Given the description of an element on the screen output the (x, y) to click on. 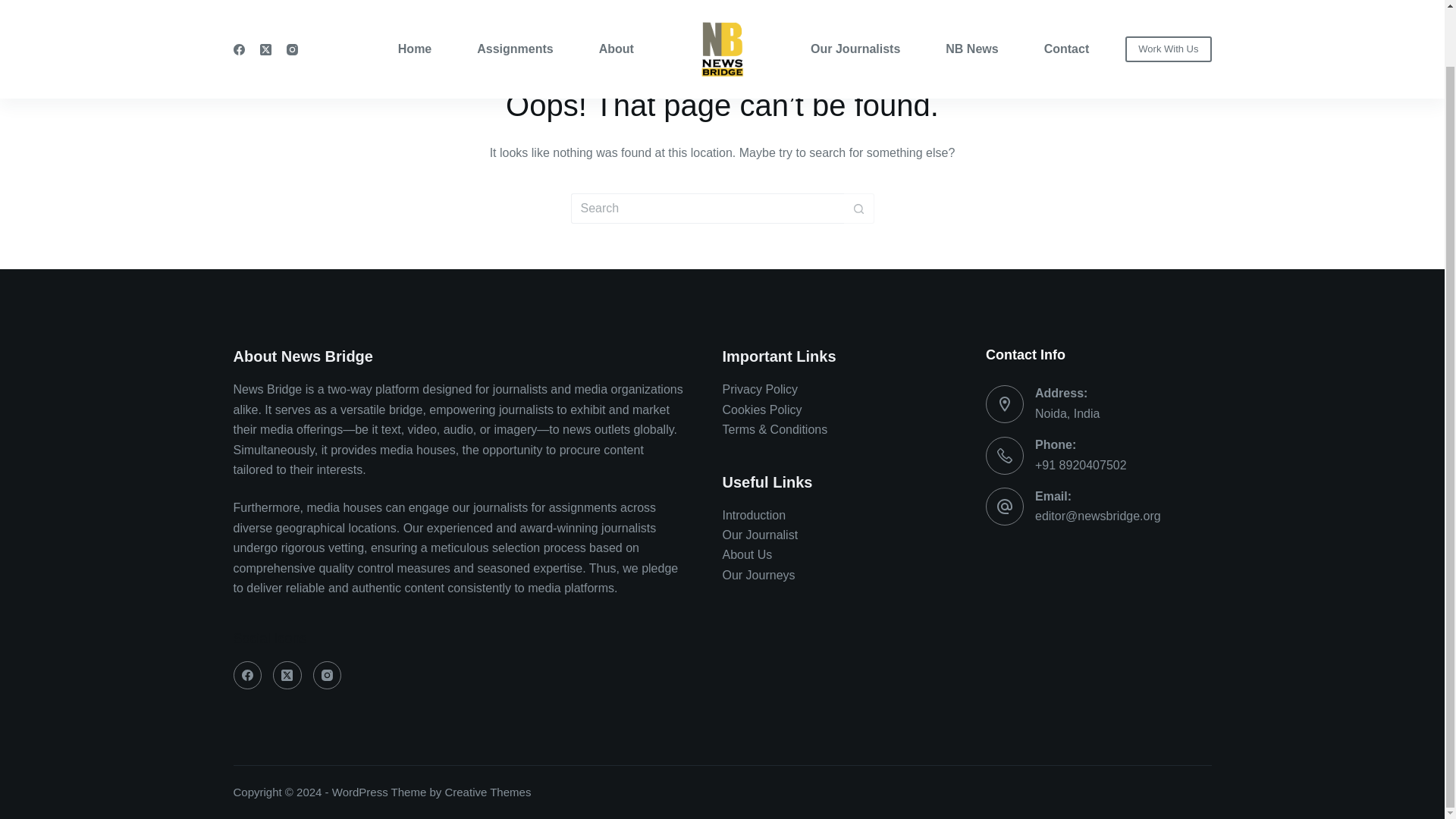
Search for... (706, 208)
Privacy Policy (759, 389)
Cookies Policy (762, 409)
Contact (1055, 18)
NB News (971, 18)
Our Journalists (866, 18)
Our Journeys (758, 574)
Assignments (514, 18)
Home (425, 18)
About Us (746, 554)
